Given the description of an element on the screen output the (x, y) to click on. 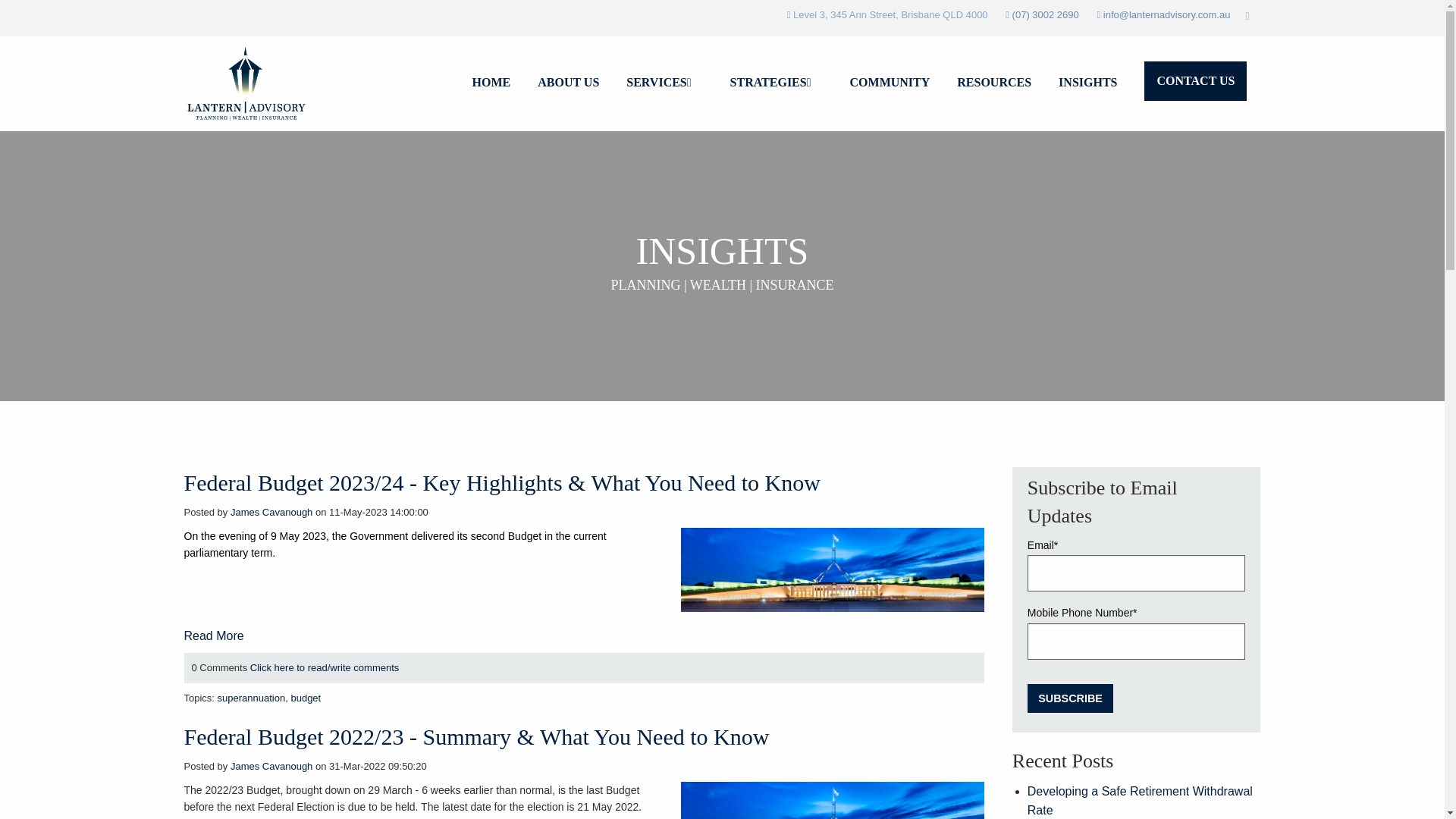
Read More Element type: text (213, 635)
COMMUNITY Element type: text (890, 82)
STRATEGIES Element type: text (776, 82)
CONTACT US Element type: text (1195, 80)
Subscribe Element type: text (1070, 698)
Federal Budget 2022/23 - Summary & What You Need to Know Element type: text (475, 736)
James Cavanough Element type: text (271, 511)
superannuation Element type: text (251, 697)
HOME Element type: text (491, 82)
budget Element type: text (305, 697)
Developing a Safe Retirement Withdrawal Rate Element type: text (1139, 800)
ABOUT US Element type: text (568, 82)
linkedin Element type: text (1246, 15)
RESOURCES Element type: text (994, 82)
SERVICES Element type: text (664, 82)
Lantern Advisory Element type: hover (247, 83)
James Cavanough Element type: text (271, 765)
(07) 3002 2690 Element type: text (1045, 14)
INSIGHTS Element type: text (1087, 82)
info@lanternadvisory.com.au Element type: text (1166, 14)
Click here to read/write comments Element type: text (324, 667)
